Given the description of an element on the screen output the (x, y) to click on. 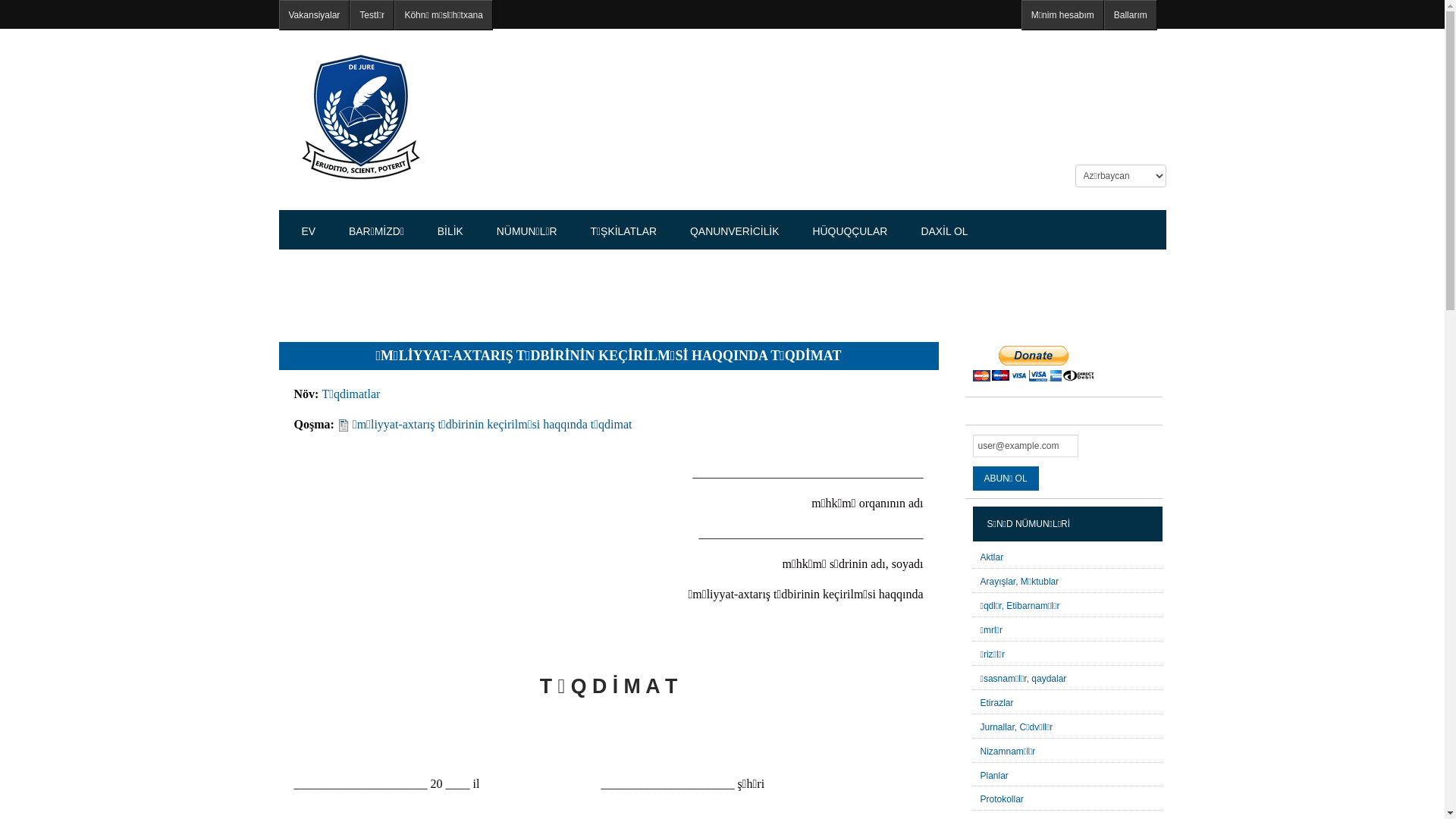
Aktlar Element type: text (991, 557)
Protokollar Element type: text (1000, 798)
Vakansiyalar Element type: text (314, 15)
Etirazlar Element type: text (996, 702)
Planlar Element type: text (993, 775)
QANUNVERICILIK Element type: text (733, 231)
PayPal - The safer, easier way to pay online! Element type: hover (1032, 363)
DAXIL OL Element type: text (943, 231)
Skip to main content Element type: text (41, 0)
BILIK Element type: text (450, 231)
EV Element type: text (308, 231)
